Given the description of an element on the screen output the (x, y) to click on. 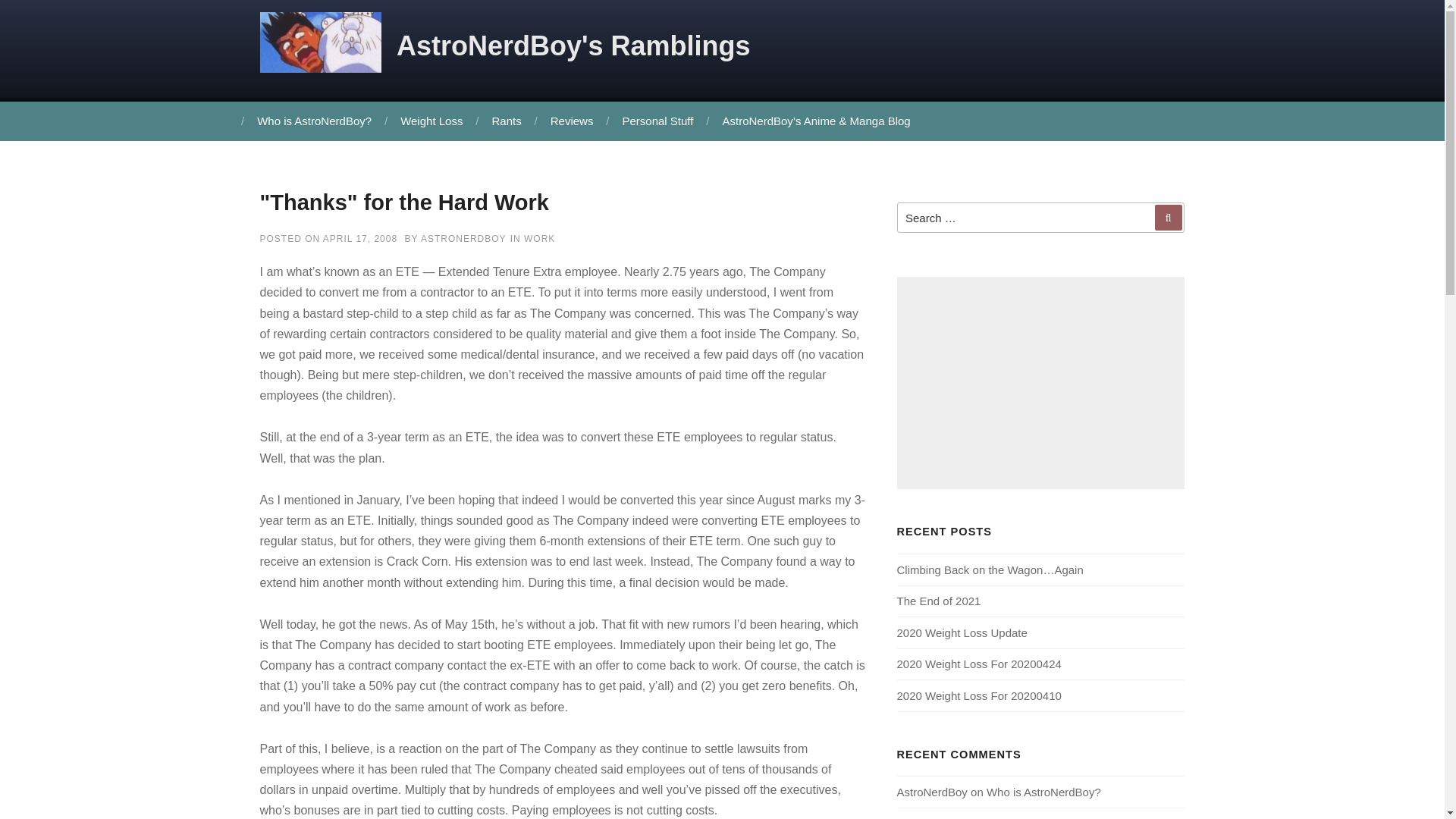
2020 Weight Loss For 20200410 (978, 695)
APRIL 17, 2008 (360, 238)
Rants (504, 120)
Reviews (570, 120)
Weight Loss (429, 120)
Who is AstroNerdBoy? (312, 120)
SEARCH (1168, 217)
WORK (539, 238)
2020 Weight Loss For 20200424 (978, 663)
2020 Weight Loss Update (961, 632)
Who is AstroNerdBoy? (1045, 817)
The End of 2021 (937, 600)
ASTRONERDBOY (463, 238)
AstroNerdBoy's Ramblings (573, 45)
Who is AstroNerdBoy? (1043, 791)
